Given the description of an element on the screen output the (x, y) to click on. 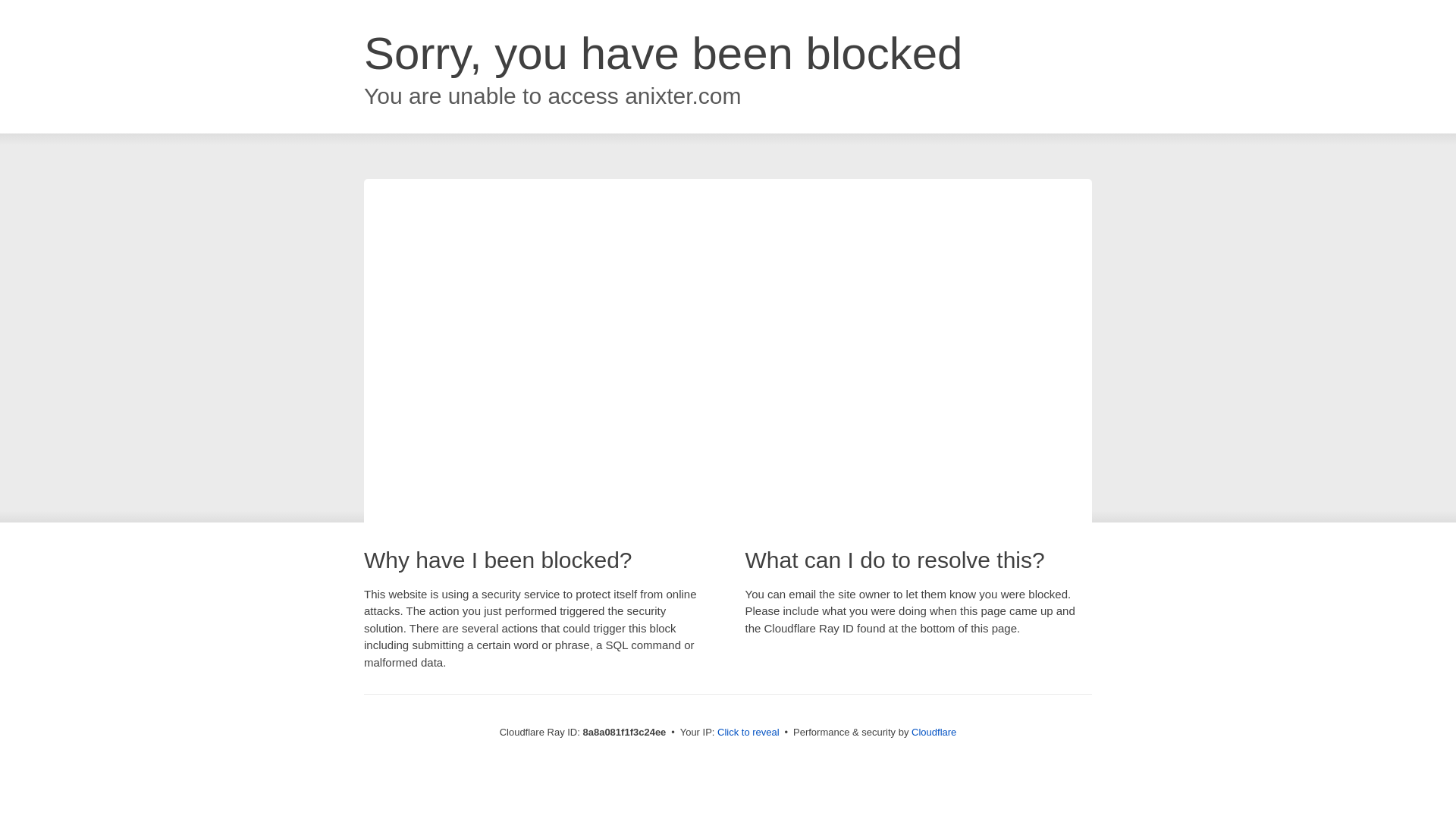
Click to reveal (747, 732)
Cloudflare (933, 731)
